Given the description of an element on the screen output the (x, y) to click on. 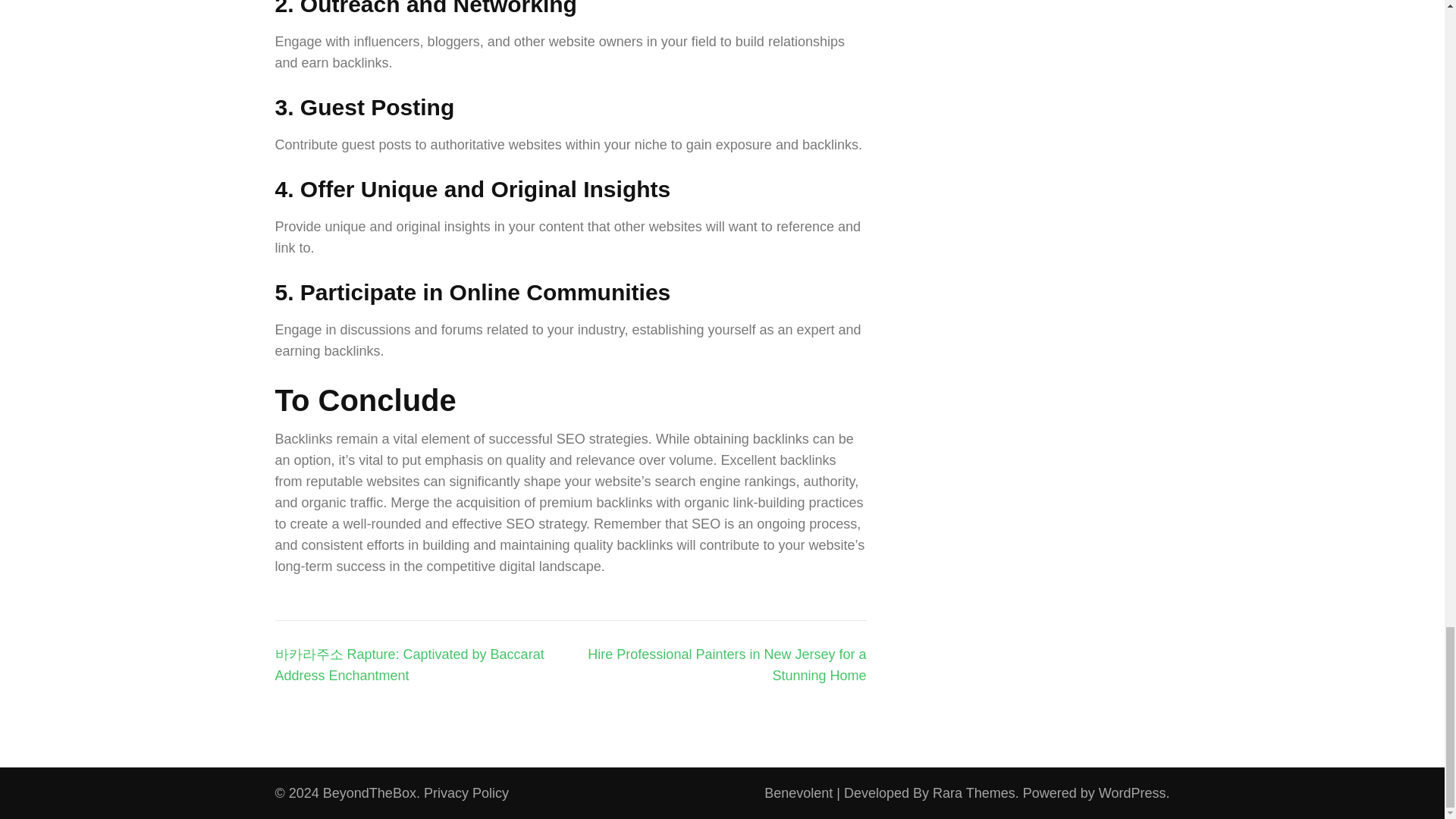
Hire Professional Painters in New Jersey for a Stunning Home (727, 665)
